Given the description of an element on the screen output the (x, y) to click on. 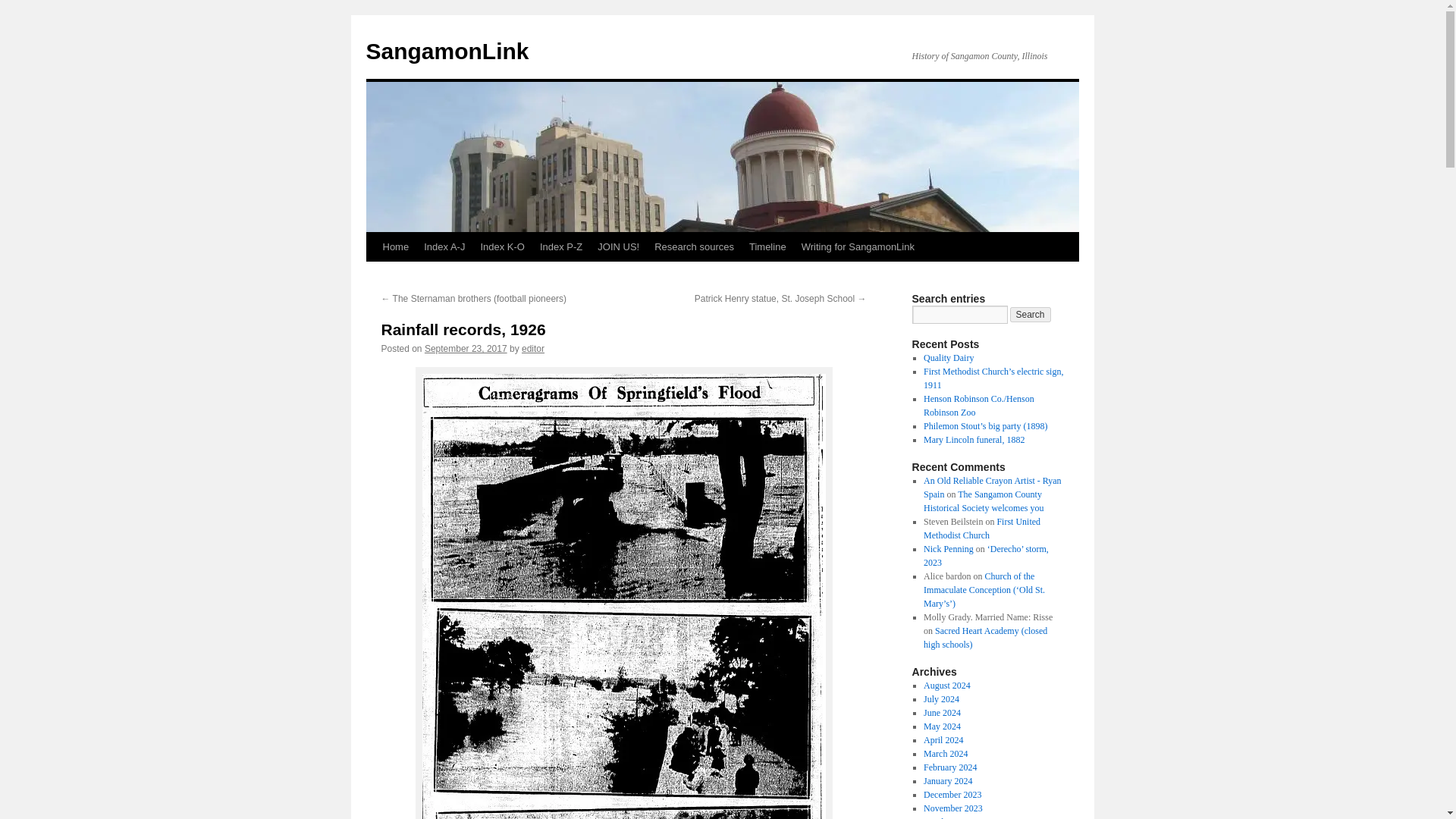
Writing for SangamonLink (857, 246)
Quality Dairy (948, 357)
An Old Reliable Crayon Artist - Ryan Spain (992, 487)
Mary Lincoln funeral, 1882 (974, 439)
Research sources (693, 246)
3:33 pm (465, 348)
editor (532, 348)
View all posts by editor (532, 348)
JOIN US! (617, 246)
First United Methodist Church (982, 528)
